Given the description of an element on the screen output the (x, y) to click on. 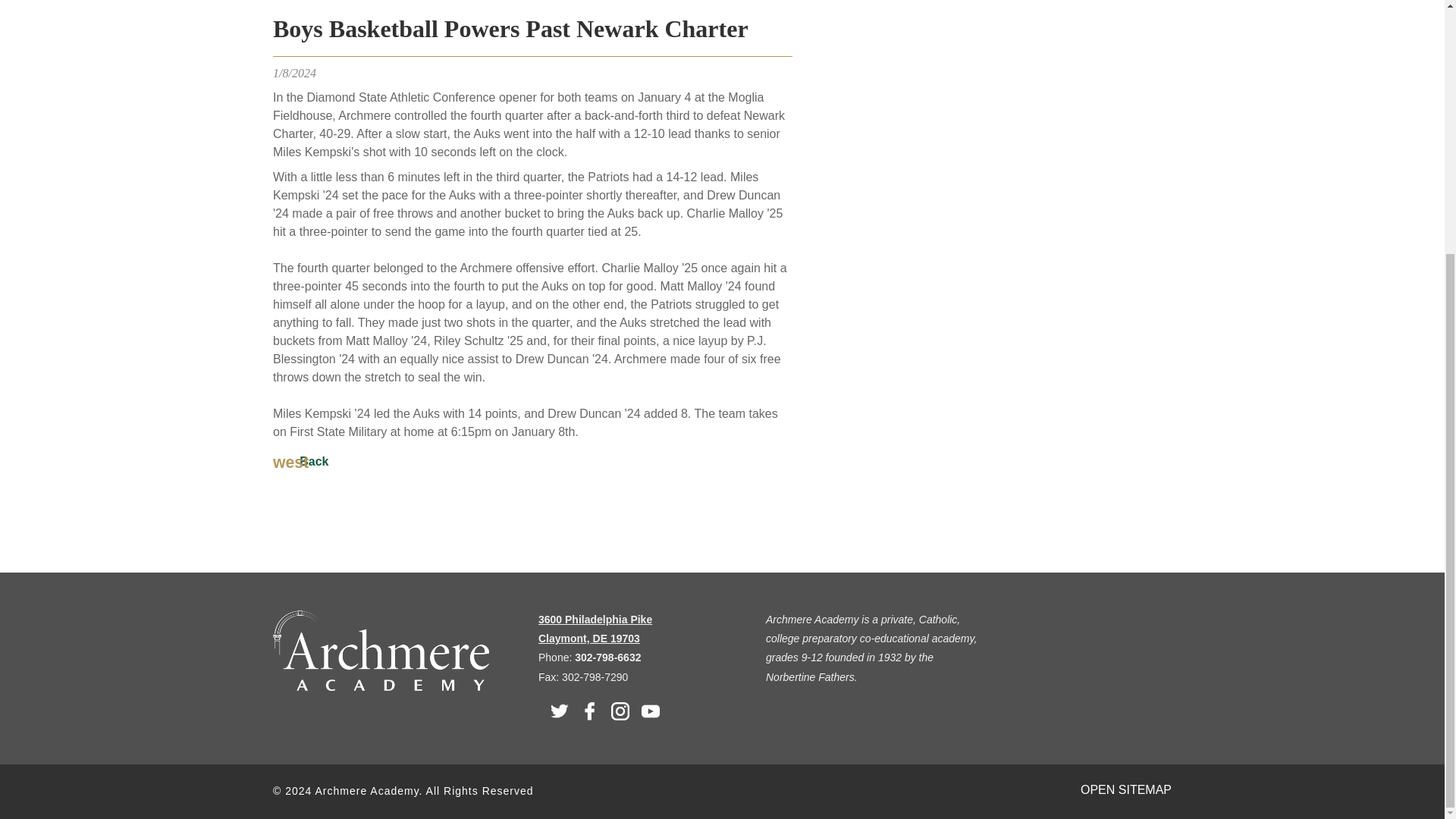
open or close this sitemap (1126, 789)
